Given the description of an element on the screen output the (x, y) to click on. 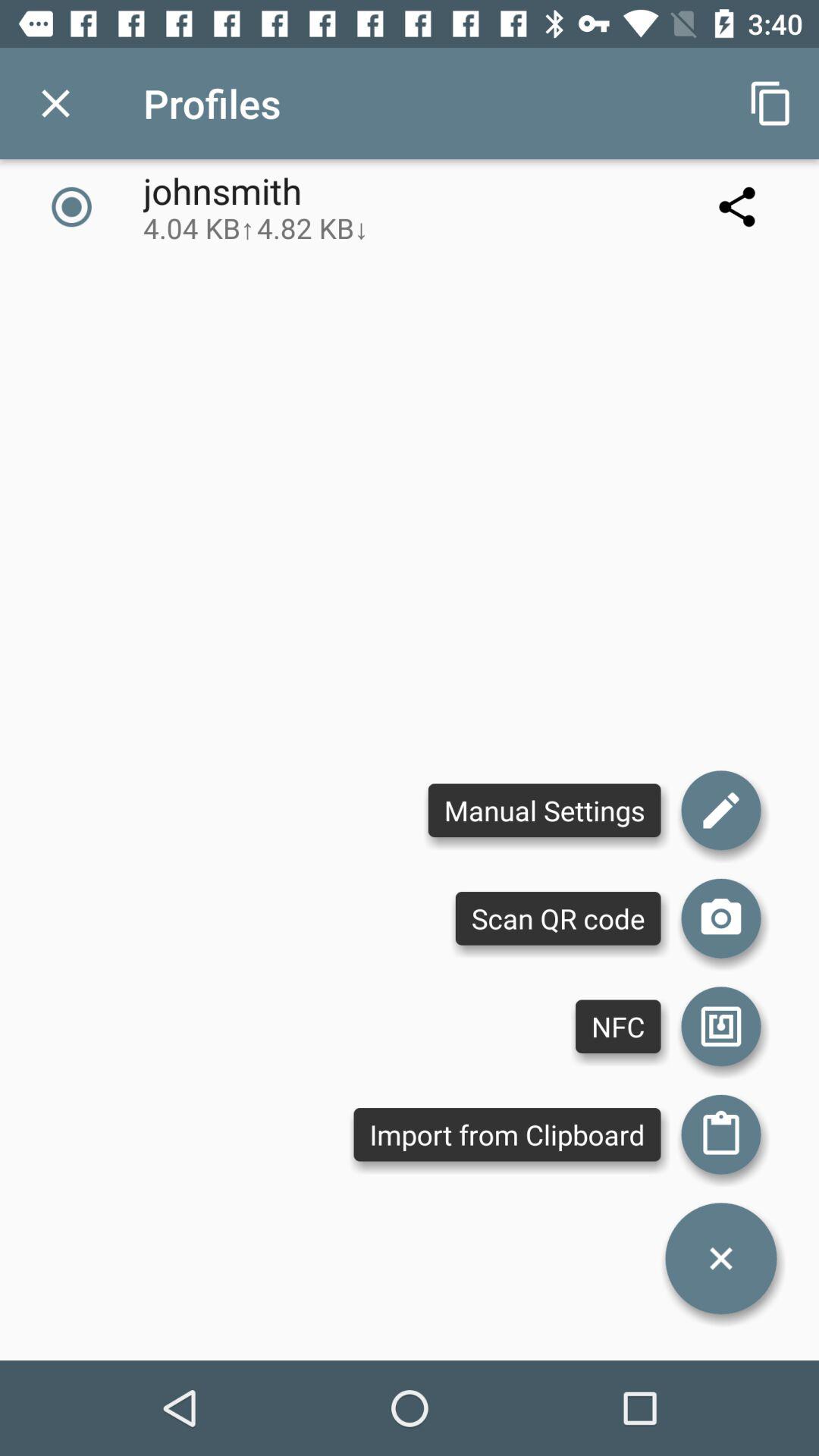
turn on item to the right of the johnsmith 4 04 icon (771, 103)
